Given the description of an element on the screen output the (x, y) to click on. 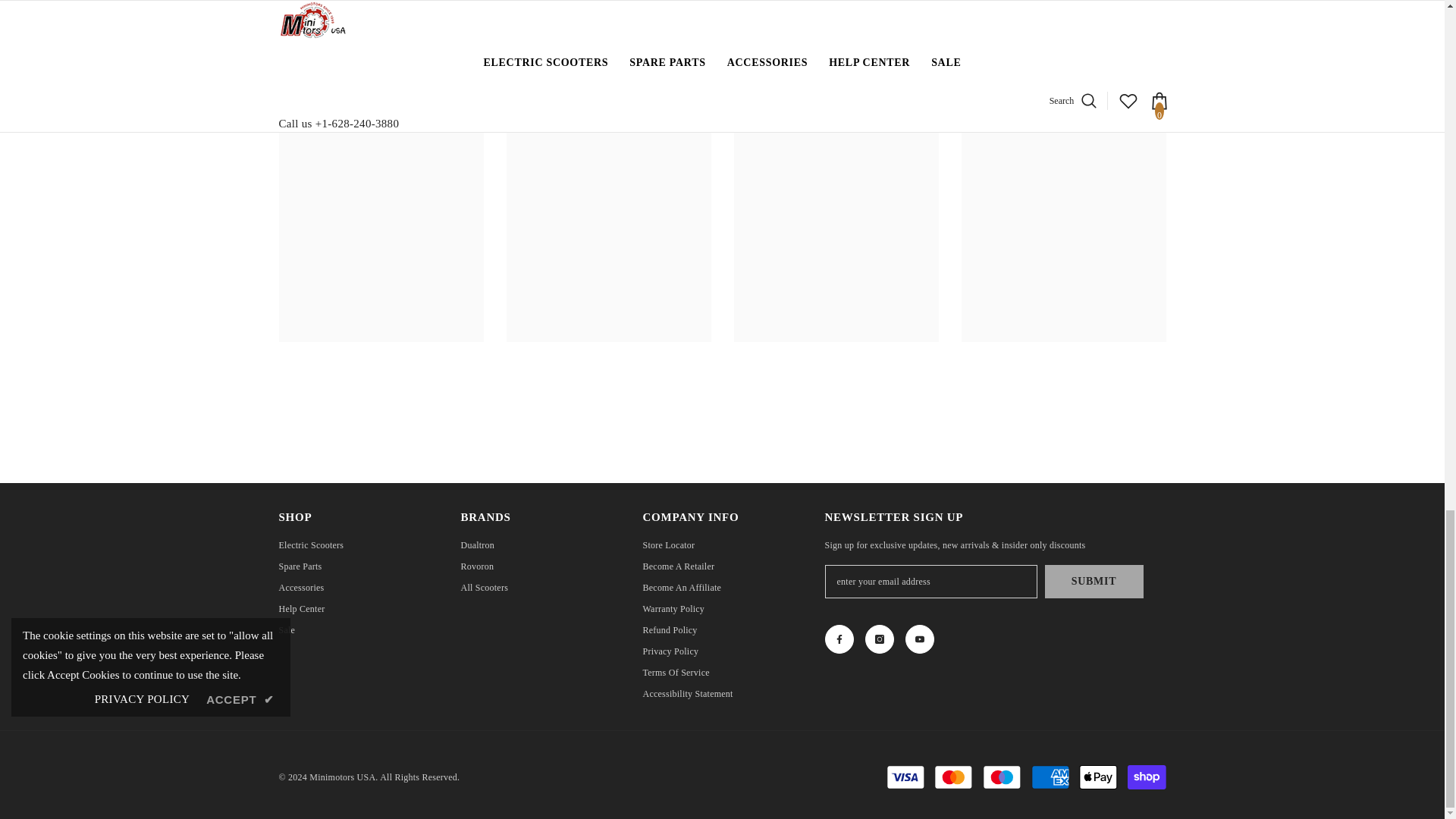
Visa (905, 776)
Maestro (1001, 776)
Shop Pay (1146, 776)
Apple Pay (1098, 776)
American Express (1050, 776)
Mastercard (953, 776)
